Given the description of an element on the screen output the (x, y) to click on. 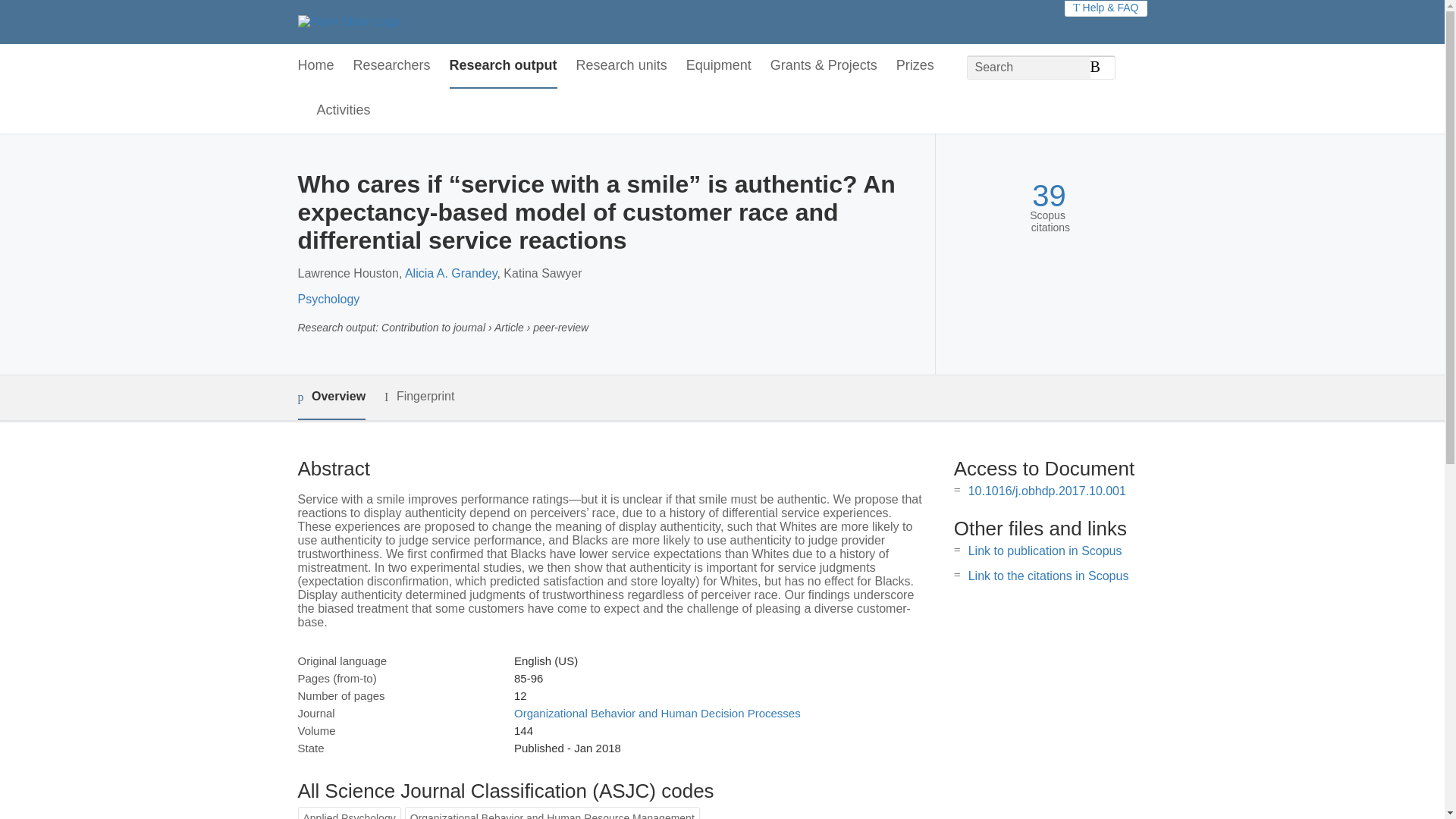
Penn State Home (347, 21)
Equipment (718, 66)
Fingerprint (419, 396)
Research units (621, 66)
39 (1048, 195)
Link to publication in Scopus (1045, 550)
Home (315, 66)
Overview (331, 397)
Research output (503, 66)
Researchers (391, 66)
Organizational Behavior and Human Decision Processes (656, 712)
Activities (344, 110)
Alicia A. Grandey (450, 273)
Psychology (328, 298)
